Given the description of an element on the screen output the (x, y) to click on. 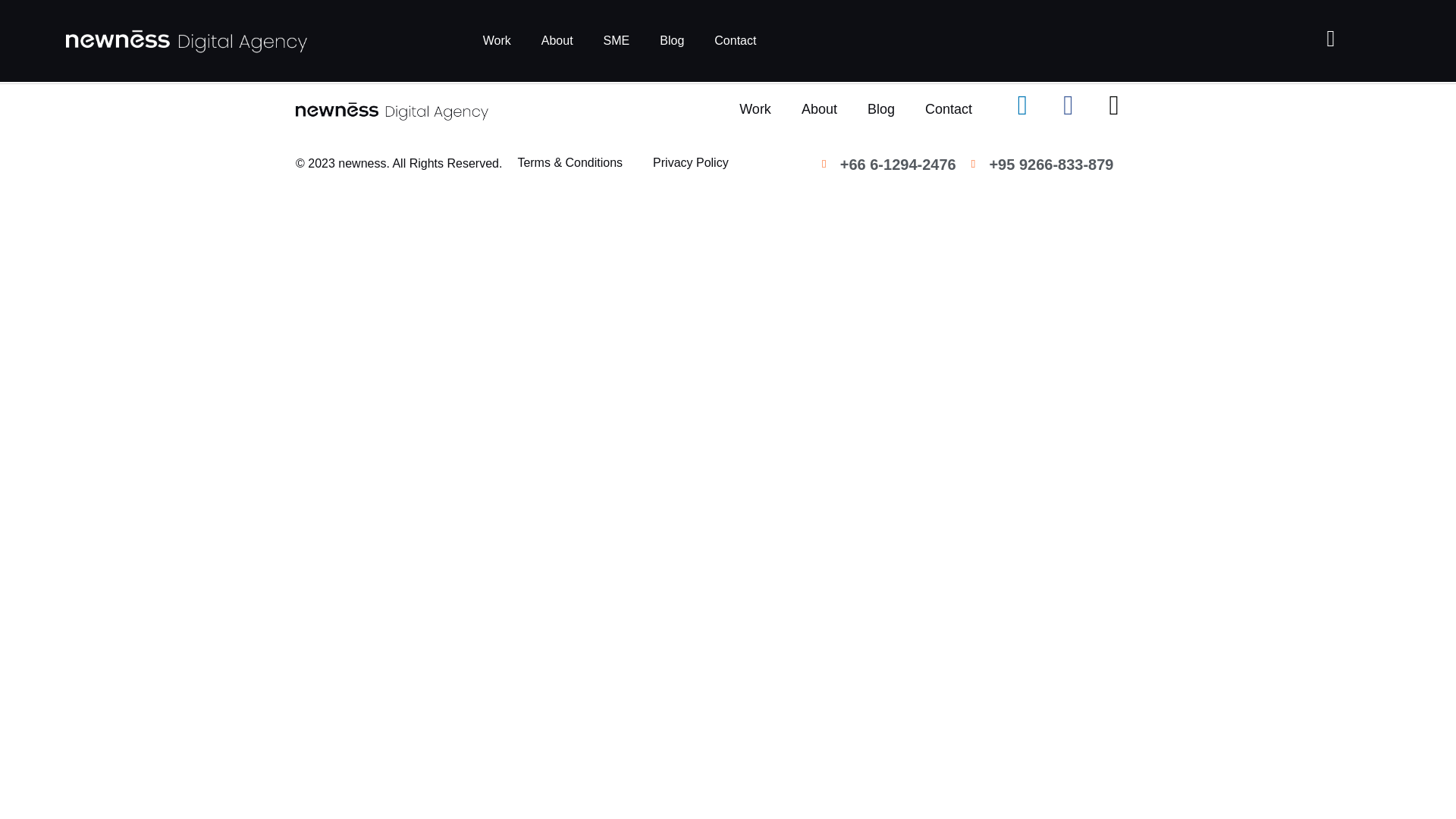
Work (496, 40)
SME (616, 40)
Contact (734, 40)
Blog (671, 40)
Blog (880, 108)
About (556, 40)
About (818, 108)
Contact (948, 108)
Work (754, 108)
Privacy Policy (690, 162)
